Given the description of an element on the screen output the (x, y) to click on. 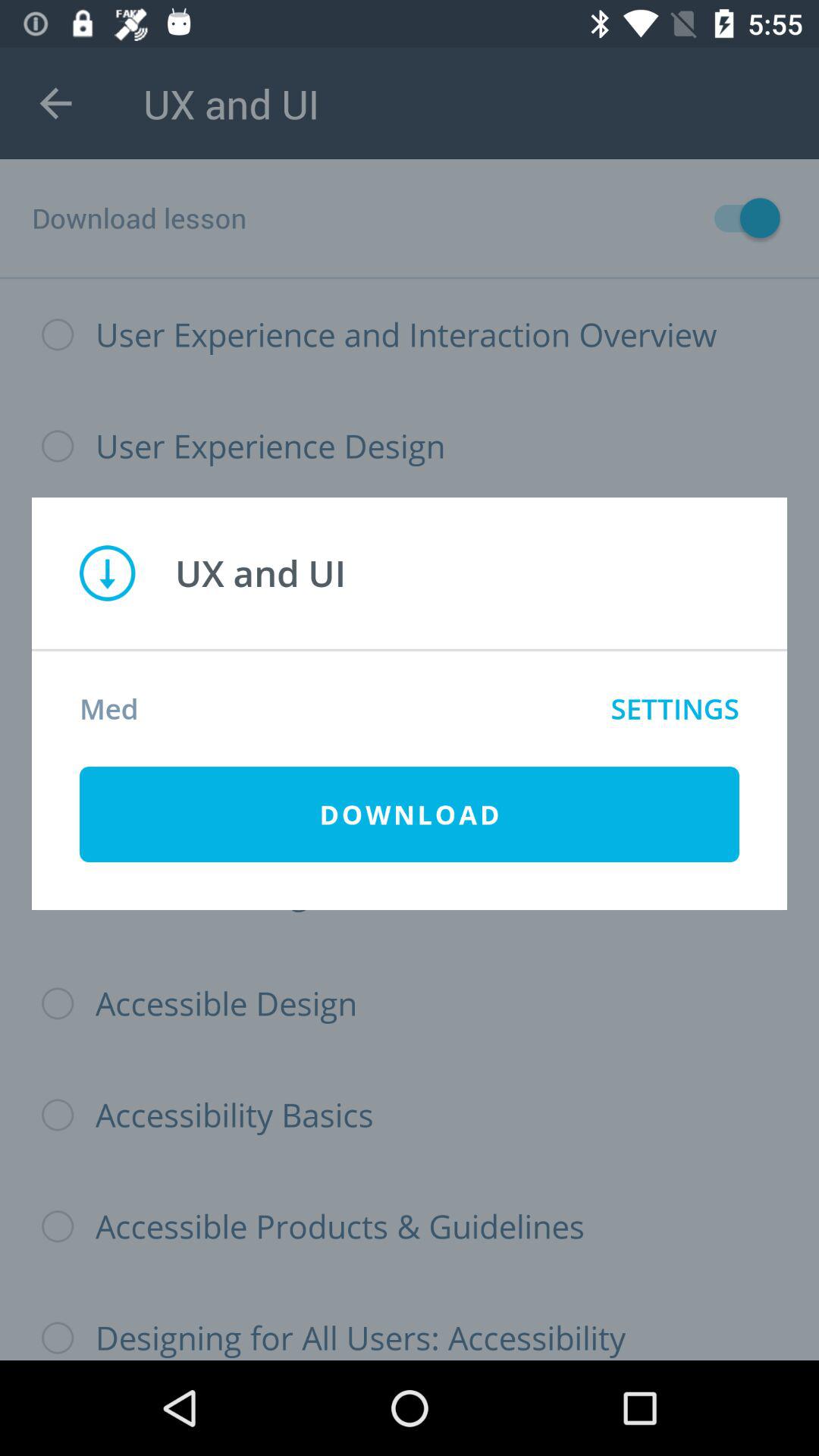
launch the download (409, 814)
